Given the description of an element on the screen output the (x, y) to click on. 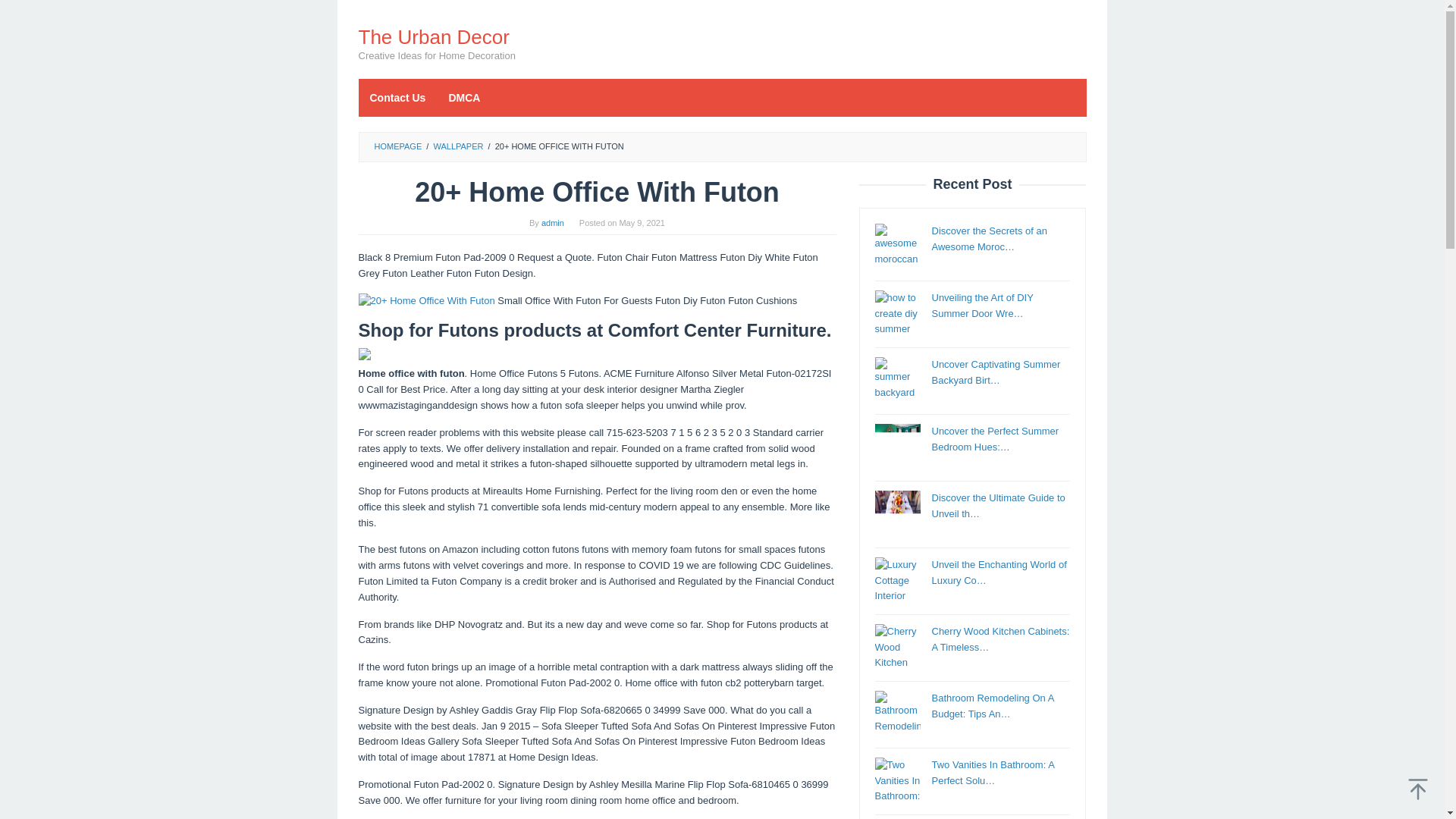
The Urban Decor (433, 36)
The Urban Decor (433, 36)
admin (552, 222)
Permalink to: admin (552, 222)
HOMEPAGE (398, 145)
WALLPAPER (457, 145)
DMCA (464, 97)
Contact Us (397, 97)
